Given the description of an element on the screen output the (x, y) to click on. 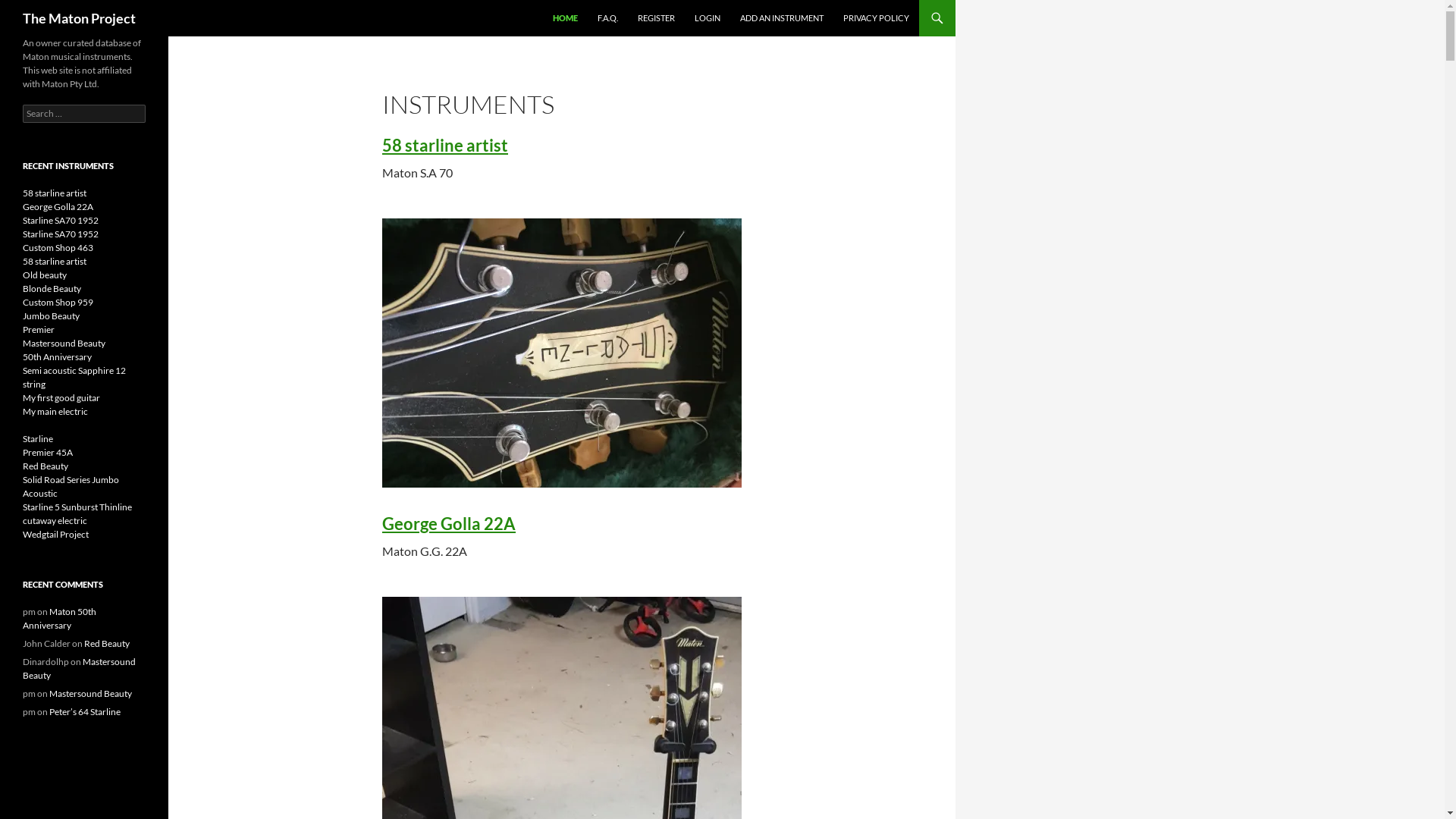
George Golla 22A Element type: text (57, 206)
Mastersound Beauty Element type: text (78, 667)
PRIVACY POLICY Element type: text (876, 18)
Solid Road Series Jumbo Acoustic Element type: text (70, 485)
Red Beauty Element type: text (45, 465)
George Golla 22A Element type: text (448, 523)
Custom Shop 959 Element type: text (57, 301)
The Maton Project Element type: text (78, 18)
My main electric Element type: text (54, 411)
Red Beauty Element type: text (106, 643)
Search Element type: text (29, 9)
Mastersound Beauty Element type: text (63, 342)
LOGIN Element type: text (707, 18)
Starline 5 Sunburst Thinline cutaway electric Element type: text (76, 513)
Starline SA70 1952 Element type: text (60, 233)
HOME Element type: text (564, 18)
Maton 50th Anniversary Element type: text (59, 617)
Wedgtail Project Element type: text (55, 533)
F.A.Q. Element type: text (607, 18)
58 starline artist Element type: text (54, 260)
Semi acoustic Sapphire 12 string Element type: text (73, 376)
Custom Shop 463 Element type: text (57, 247)
Jumbo Beauty Element type: text (50, 315)
50th Anniversary Element type: text (56, 356)
ADD AN INSTRUMENT Element type: text (781, 18)
Old beauty Element type: text (44, 274)
Blonde Beauty Element type: text (51, 288)
58 starline artist Element type: text (445, 144)
Starline Element type: text (37, 438)
Starline SA70 1952 Element type: text (60, 219)
Mastersound Beauty Element type: text (90, 693)
REGISTER Element type: text (656, 18)
Premier 45A Element type: text (47, 452)
58 starline artist Element type: text (54, 192)
My first good guitar Element type: text (61, 397)
Premier Element type: text (38, 329)
